Given the description of an element on the screen output the (x, y) to click on. 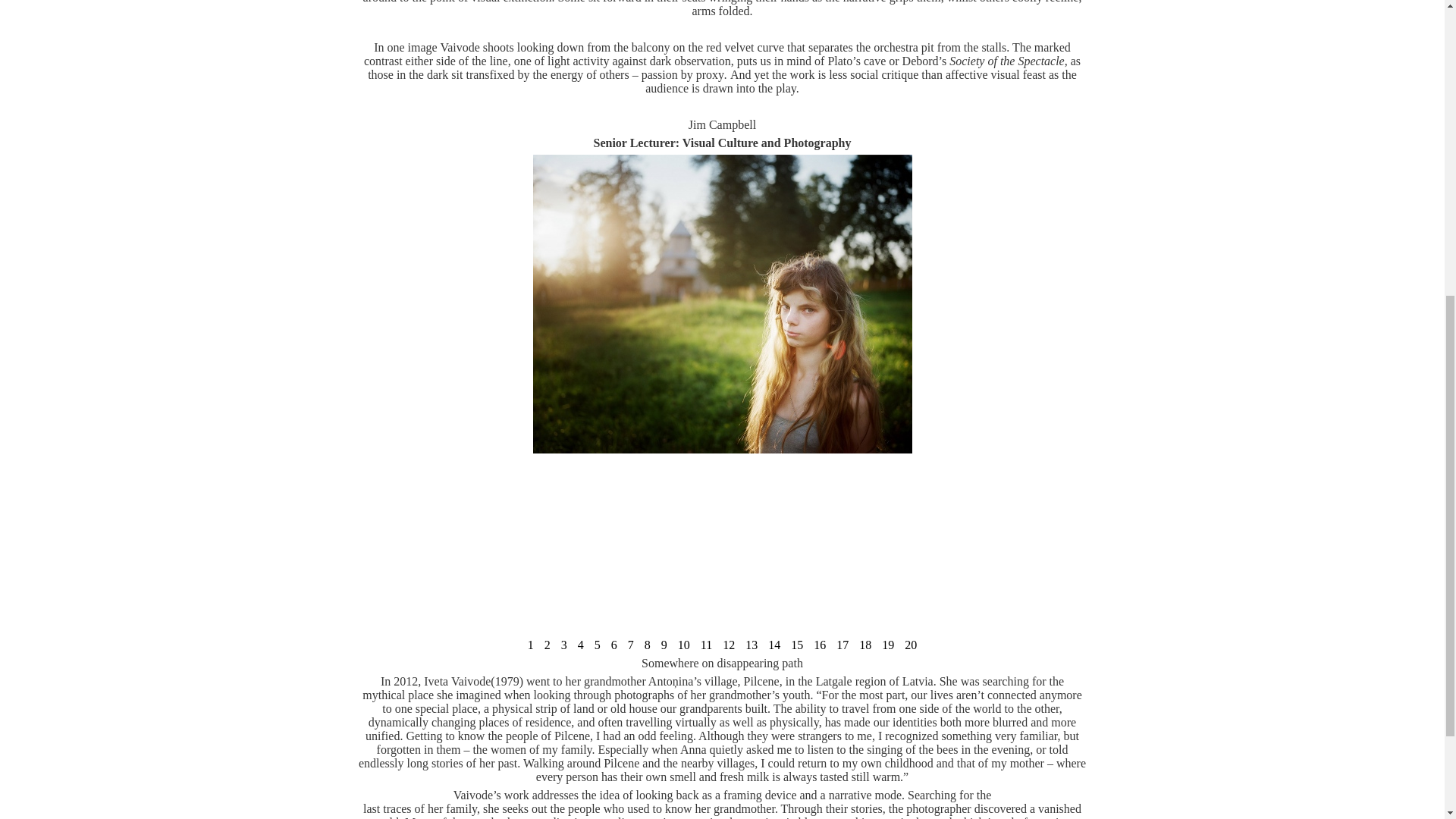
16 (819, 644)
19 (887, 644)
20 (910, 644)
8 (646, 644)
5 (597, 644)
6 (614, 644)
2 (547, 644)
18 (865, 644)
7 (630, 644)
12 (728, 644)
10 (684, 644)
14 (774, 644)
11 (706, 644)
15 (796, 644)
17 (841, 644)
